Given the description of an element on the screen output the (x, y) to click on. 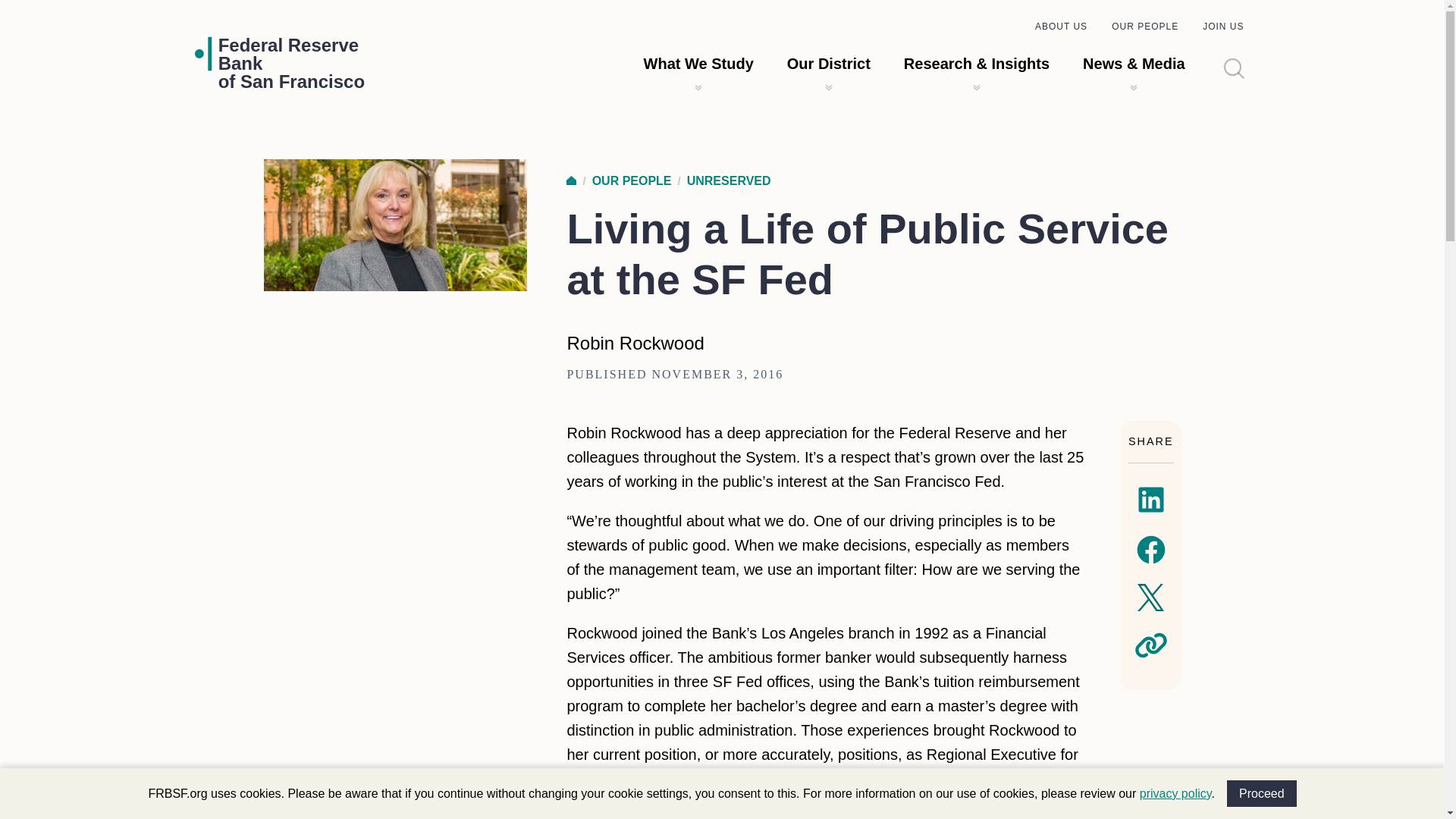
ABOUT US (1061, 26)
OUR PEOPLE (1144, 26)
What We Study (698, 63)
JOIN US (1222, 26)
privacy policy (1175, 793)
Proceed (1262, 793)
HOME (291, 63)
Our District (571, 180)
